Given the description of an element on the screen output the (x, y) to click on. 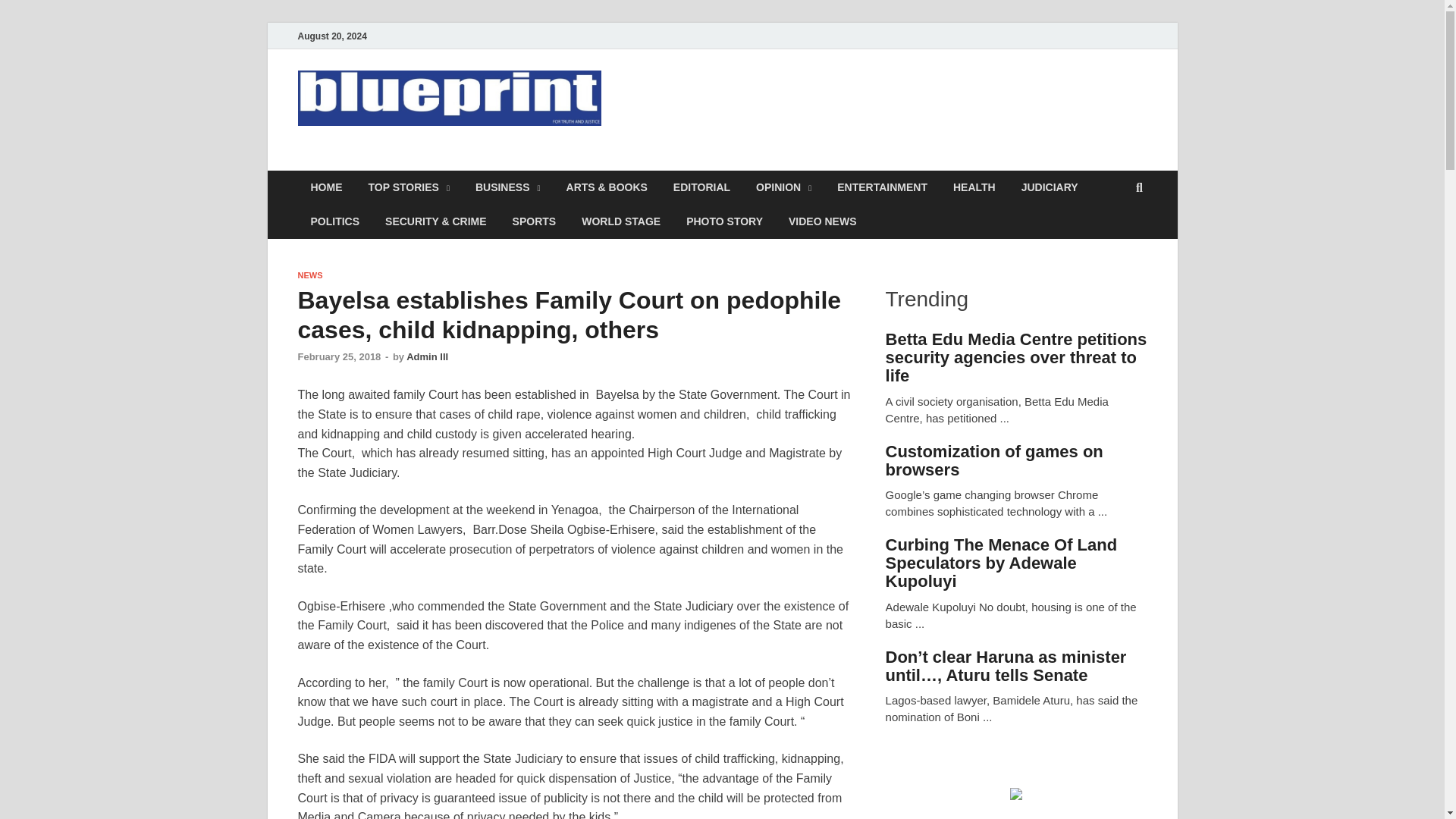
OPINION (783, 187)
HOME (326, 187)
TOP STORIES (408, 187)
Blueprint Newspapers Limited (504, 161)
BUSINESS (508, 187)
EDITORIAL (701, 187)
ENTERTAINMENT (882, 187)
